Given the description of an element on the screen output the (x, y) to click on. 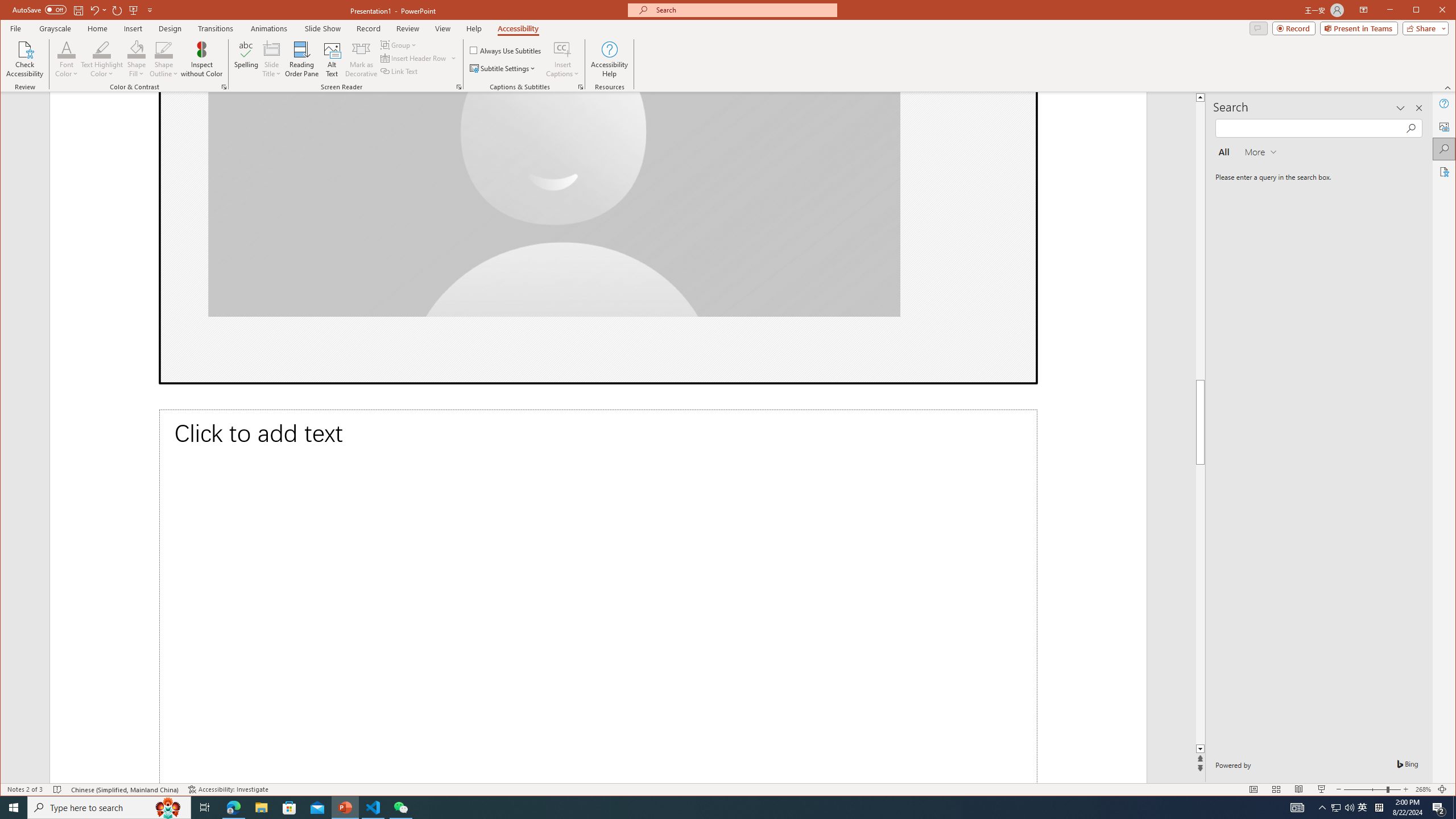
Link Text (399, 70)
Zoom 268% (1422, 789)
